Given the description of an element on the screen output the (x, y) to click on. 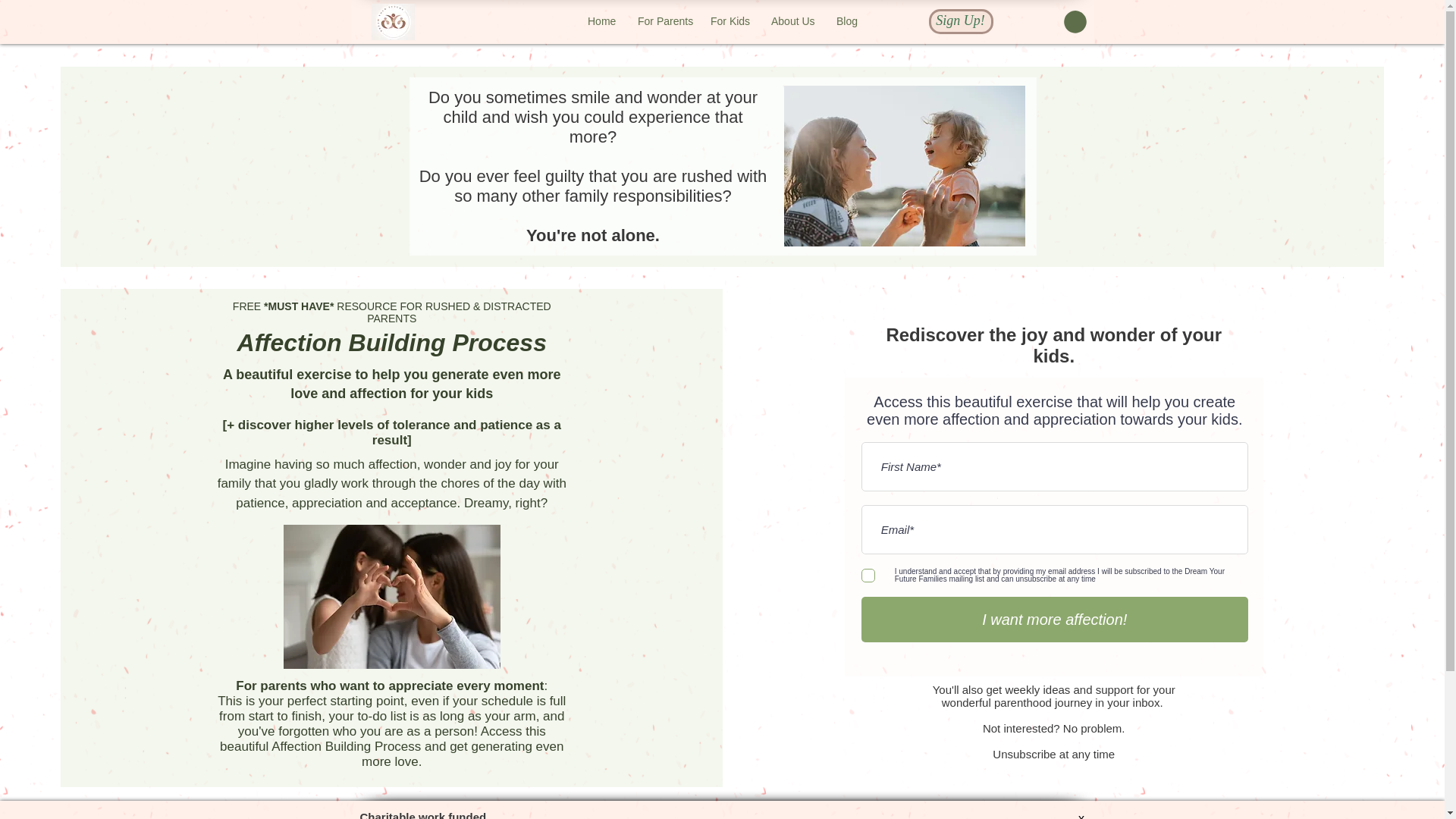
I want more affection! (1054, 619)
Sign Up! (960, 20)
About Us (792, 21)
For Parents (662, 21)
Blog (846, 21)
Home (601, 21)
x (1081, 815)
For Kids (729, 21)
